Given the description of an element on the screen output the (x, y) to click on. 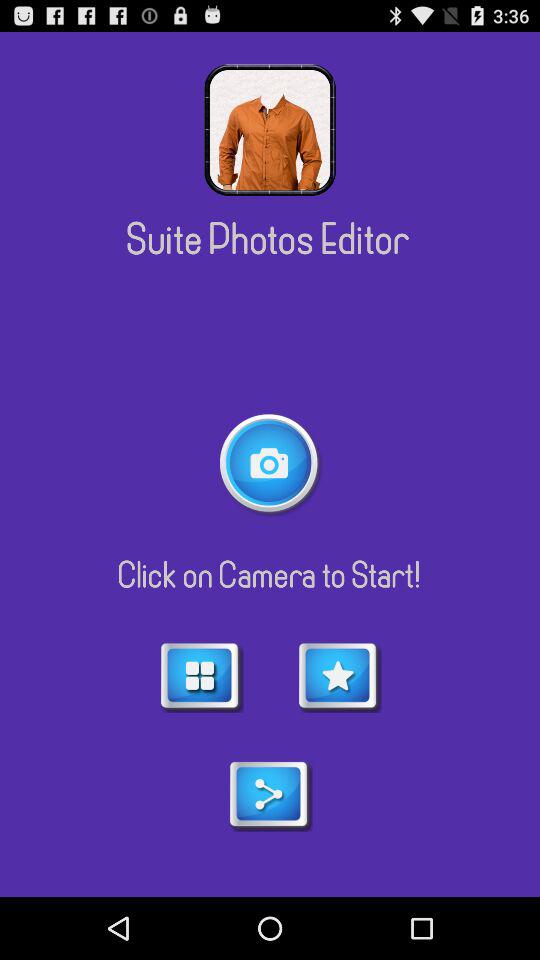
share (269, 795)
